Given the description of an element on the screen output the (x, y) to click on. 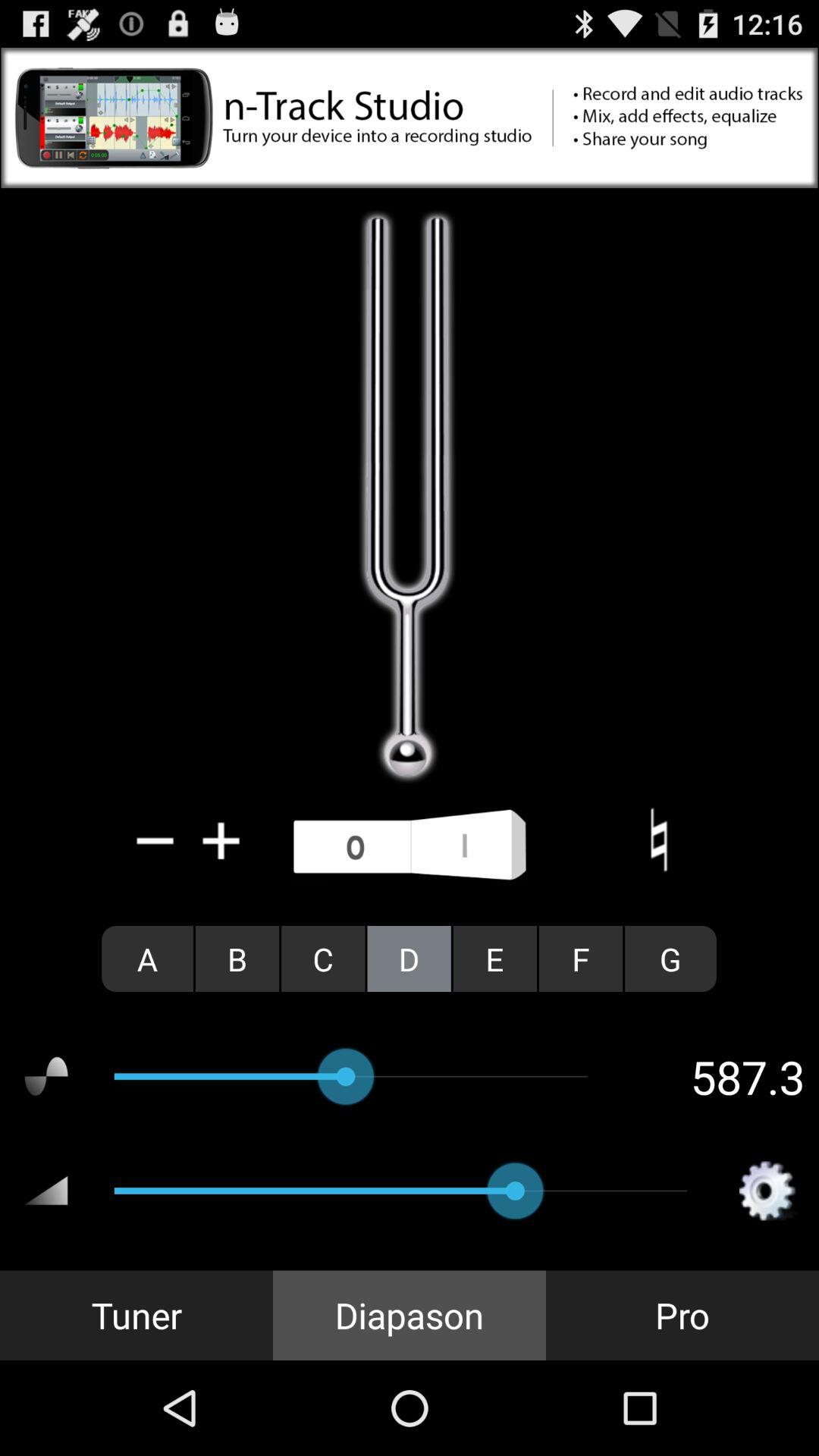
press the icon to the left of the b (147, 958)
